Given the description of an element on the screen output the (x, y) to click on. 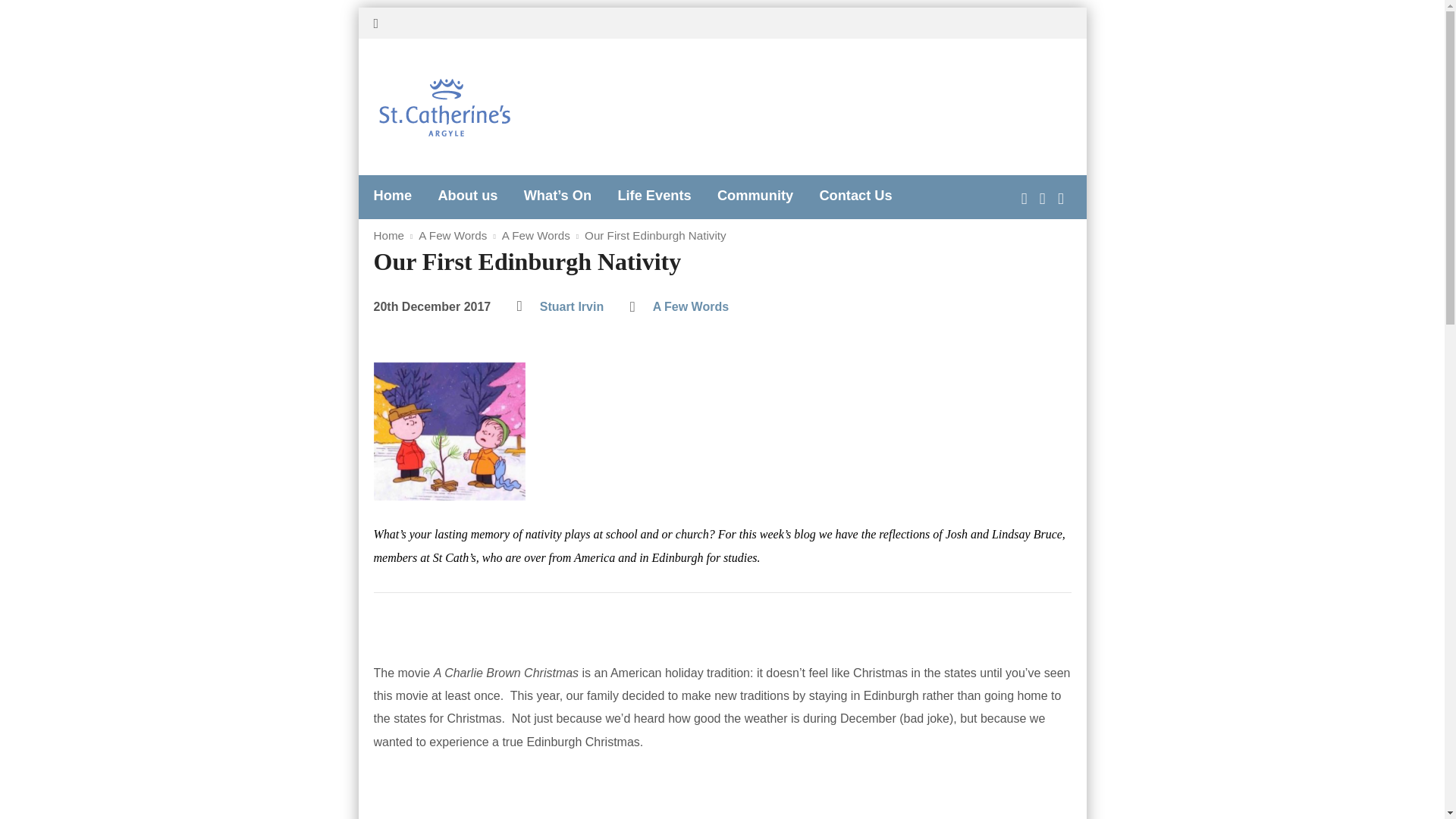
Community (755, 195)
Contact Us (854, 195)
Stuart Irvin (572, 306)
Our First Edinburgh Nativity (655, 235)
A Few Words (536, 235)
Life Events (653, 195)
Home (388, 235)
About us (467, 195)
Home (392, 195)
A Few Words (690, 306)
A Few Words (452, 235)
